Given the description of an element on the screen output the (x, y) to click on. 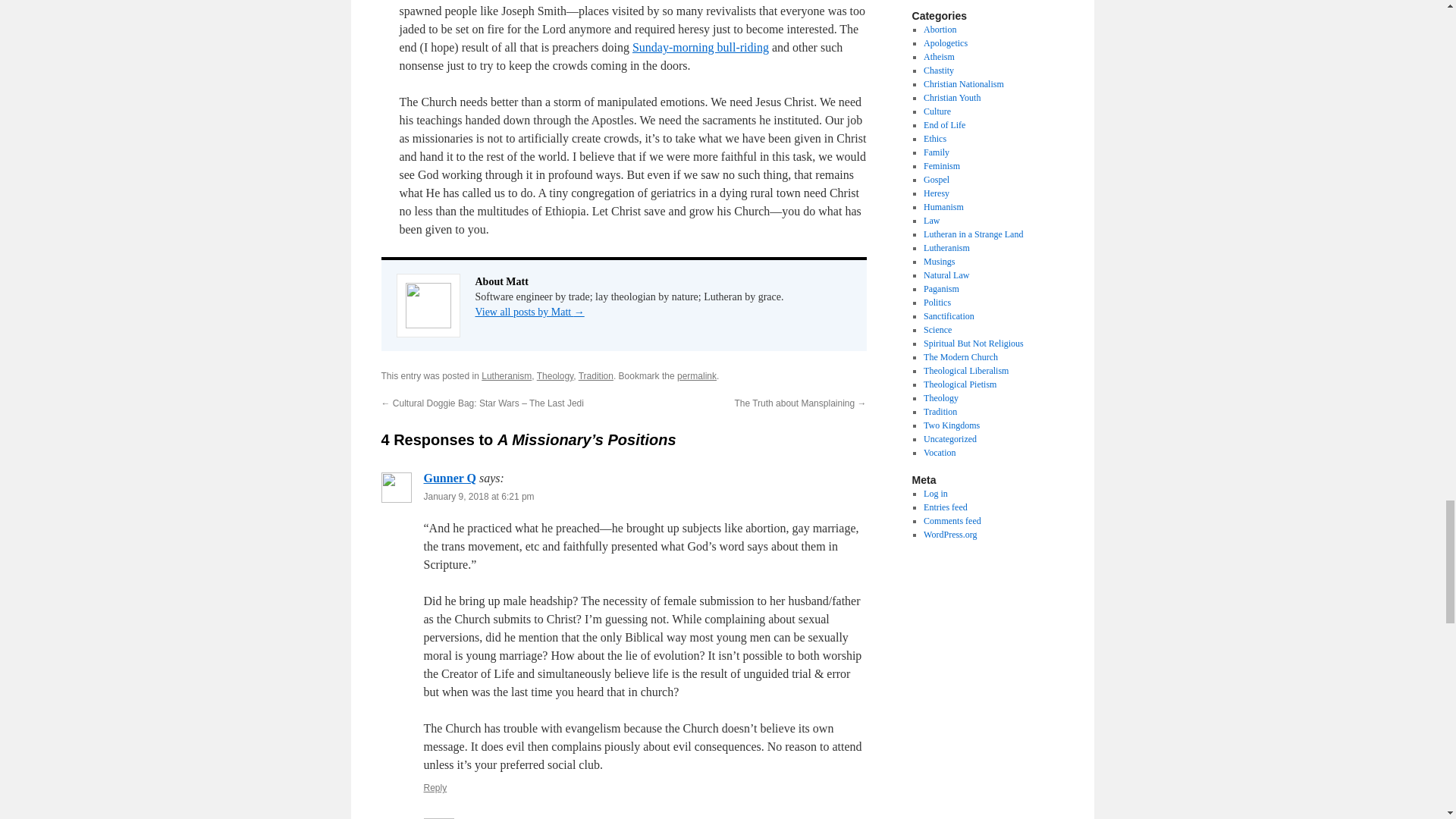
Tradition (595, 376)
Gunner Q (449, 477)
Theology (555, 376)
Sunday-morning bull-riding (699, 47)
permalink (696, 376)
Reply (434, 787)
Lutheranism (506, 376)
January 9, 2018 at 6:21 pm (478, 496)
